Given the description of an element on the screen output the (x, y) to click on. 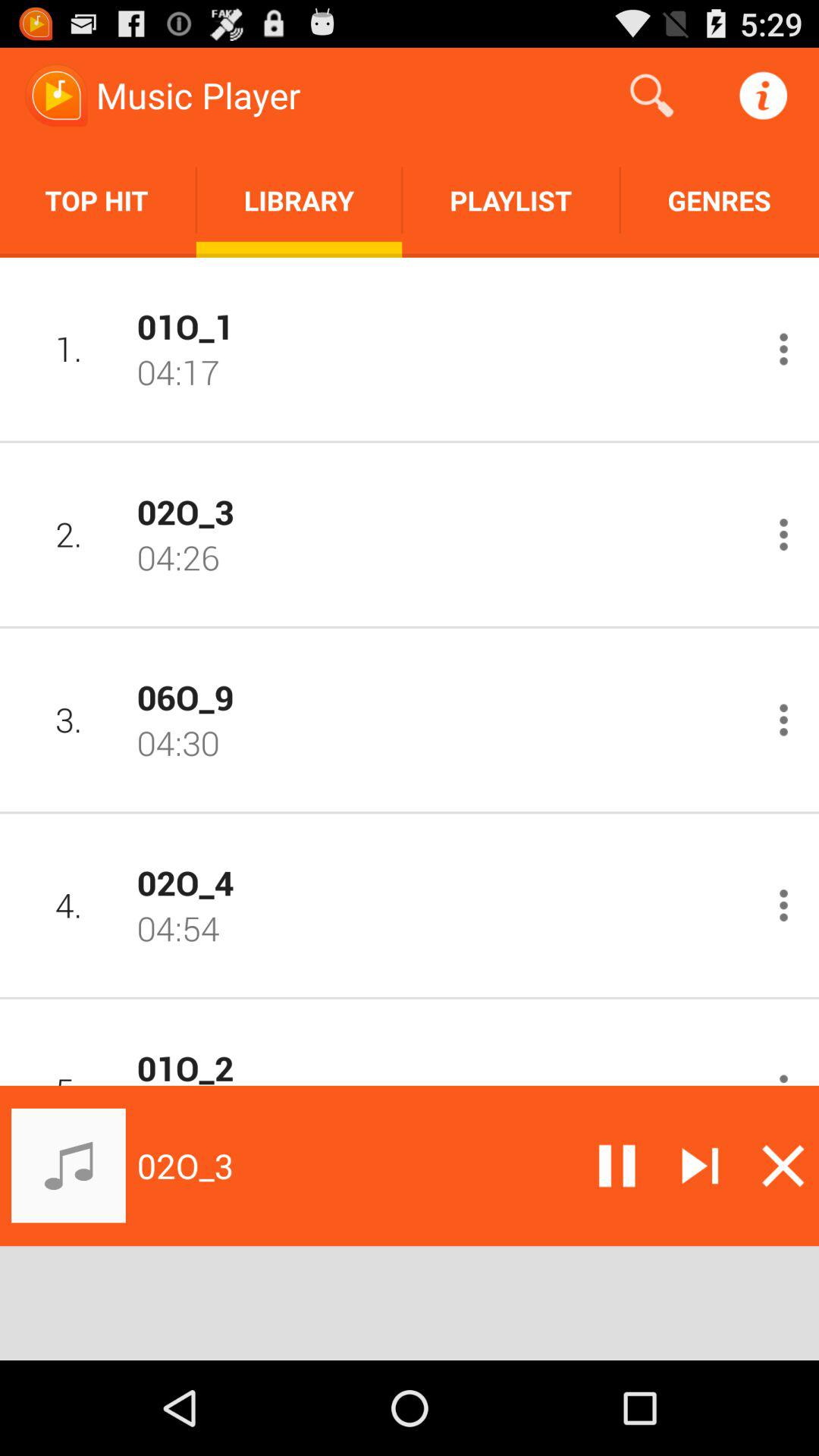
open more options (783, 534)
